Given the description of an element on the screen output the (x, y) to click on. 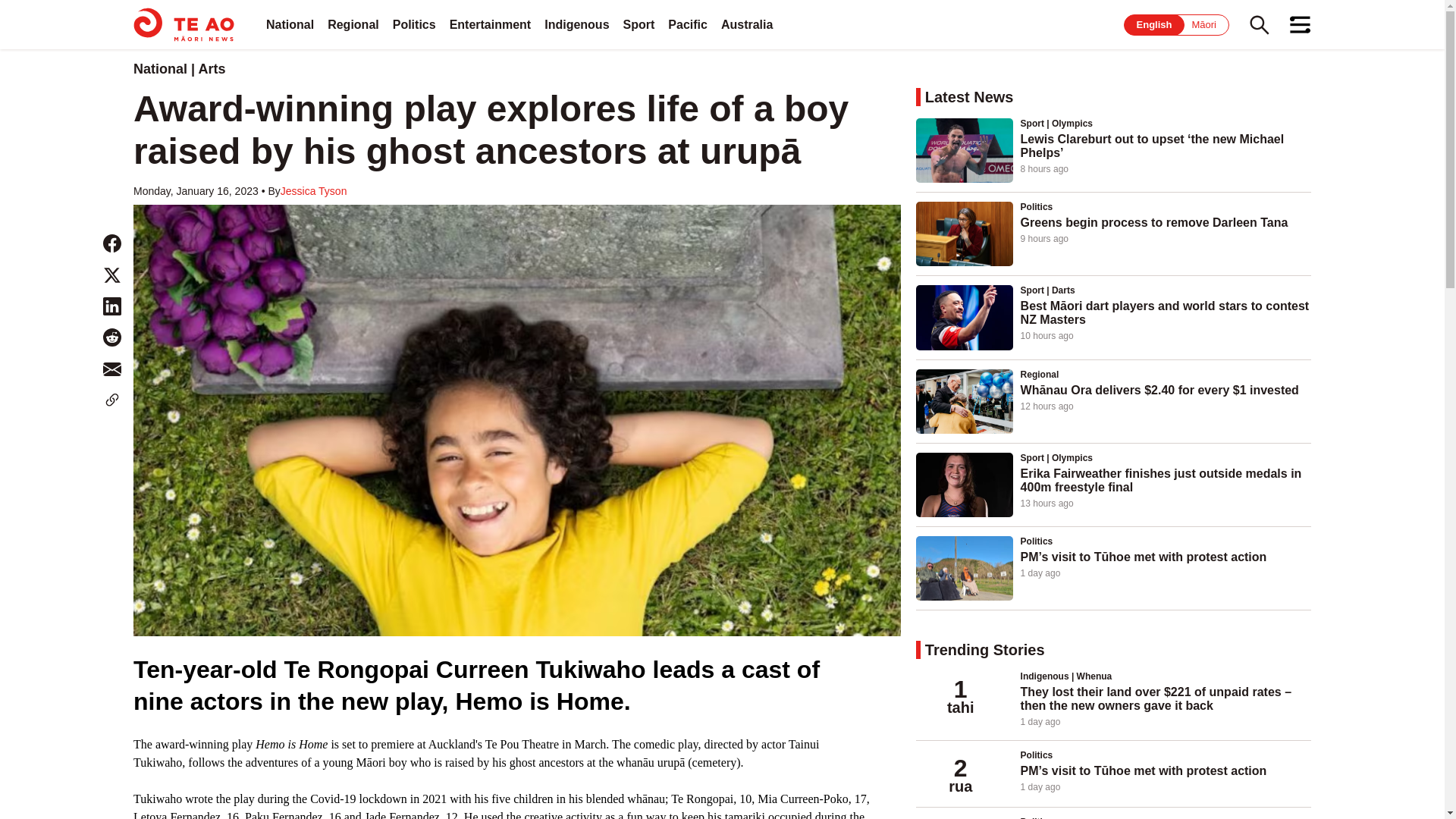
Copy SocialLink (111, 399)
Indigenous (576, 24)
Regional (352, 24)
Entertainment (490, 24)
Sport (639, 24)
Politics (414, 24)
Pacific (687, 24)
Jessica Tyson (314, 191)
National (290, 24)
English (1154, 24)
Australia (746, 24)
